Given the description of an element on the screen output the (x, y) to click on. 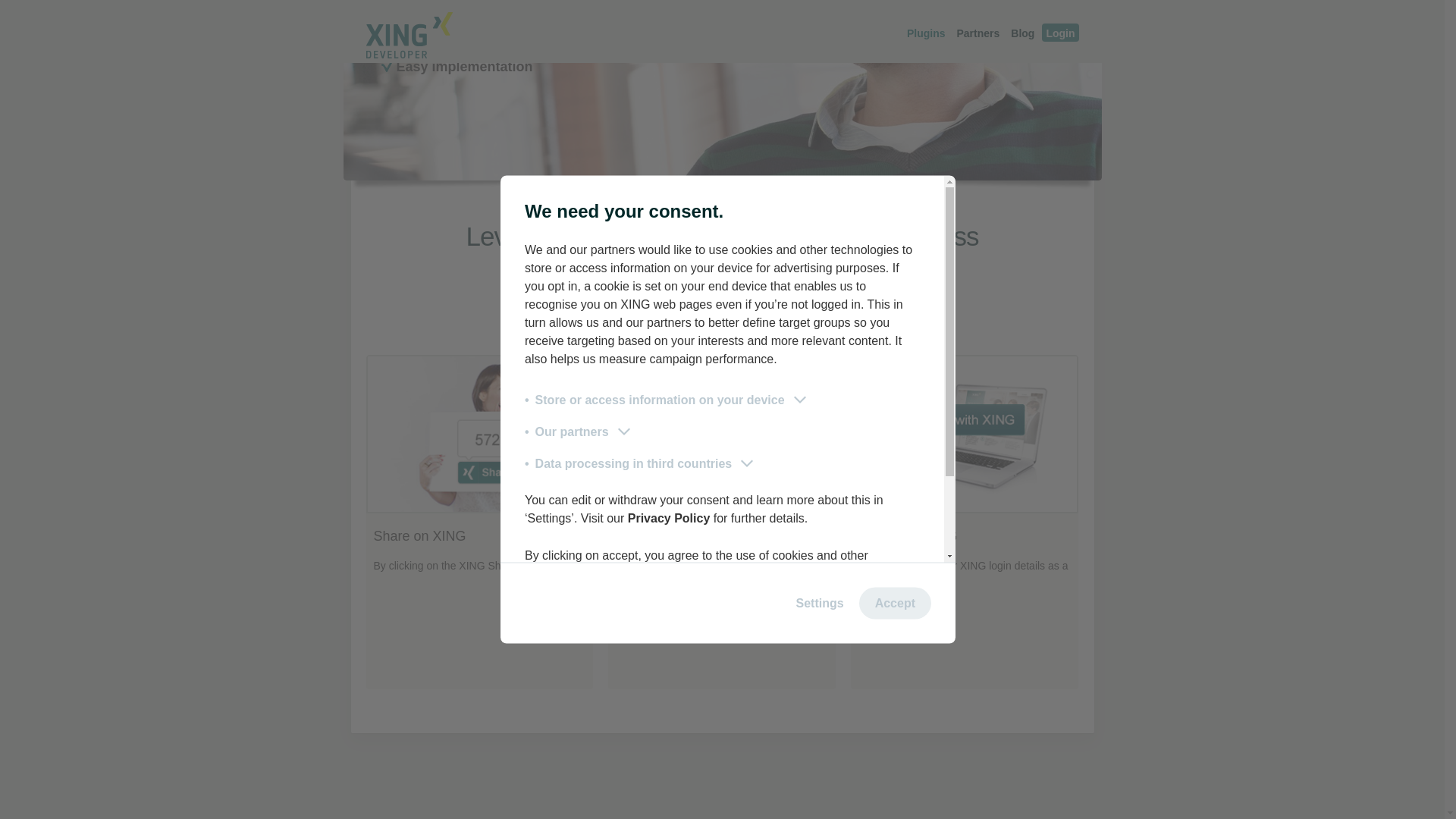
Our partners (578, 184)
Privacy Policy (668, 269)
Settings (820, 355)
Store or access information on your device (666, 152)
Accept (895, 355)
Data processing in third countries (639, 216)
